Given the description of an element on the screen output the (x, y) to click on. 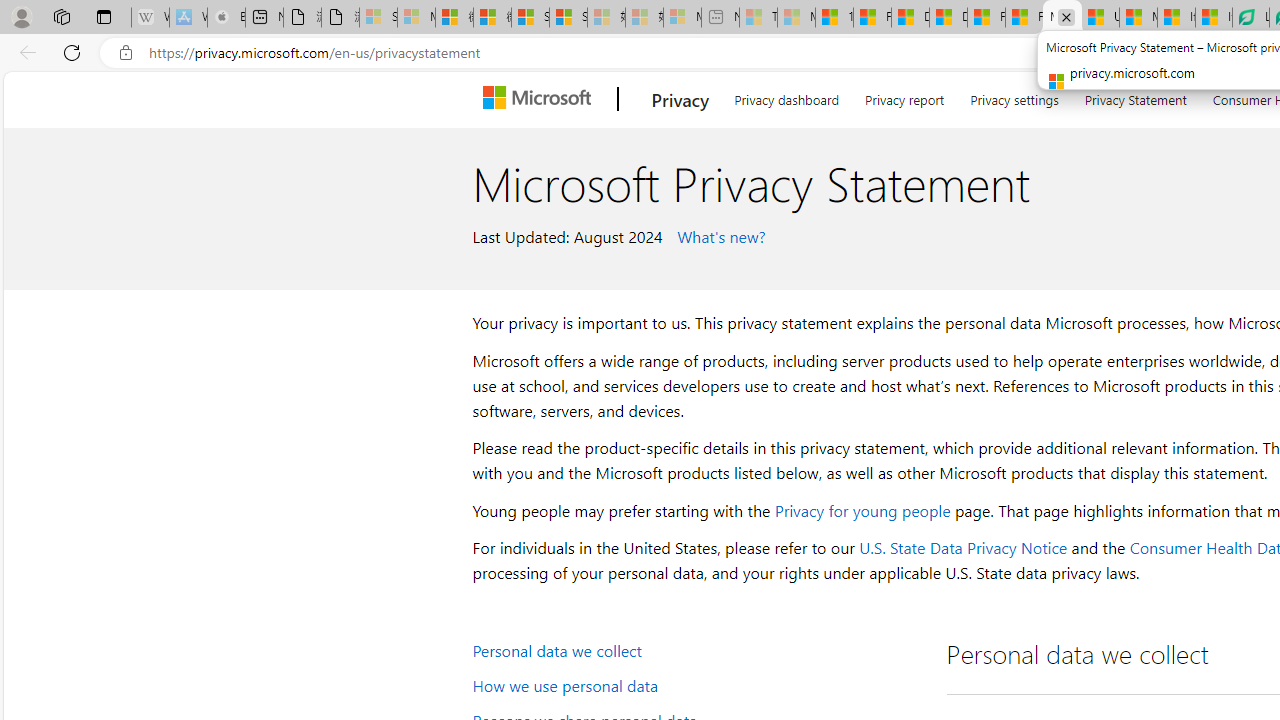
Personal data we collect (696, 650)
Privacy dashboard (786, 96)
Drinking tea every day is proven to delay biological aging (948, 17)
Privacy report (904, 96)
Top Stories - MSN - Sleeping (757, 17)
Privacy report (904, 96)
Foo BAR | Trusted Community Engagement and Contributions (1024, 17)
How we use personal data (696, 684)
